Given the description of an element on the screen output the (x, y) to click on. 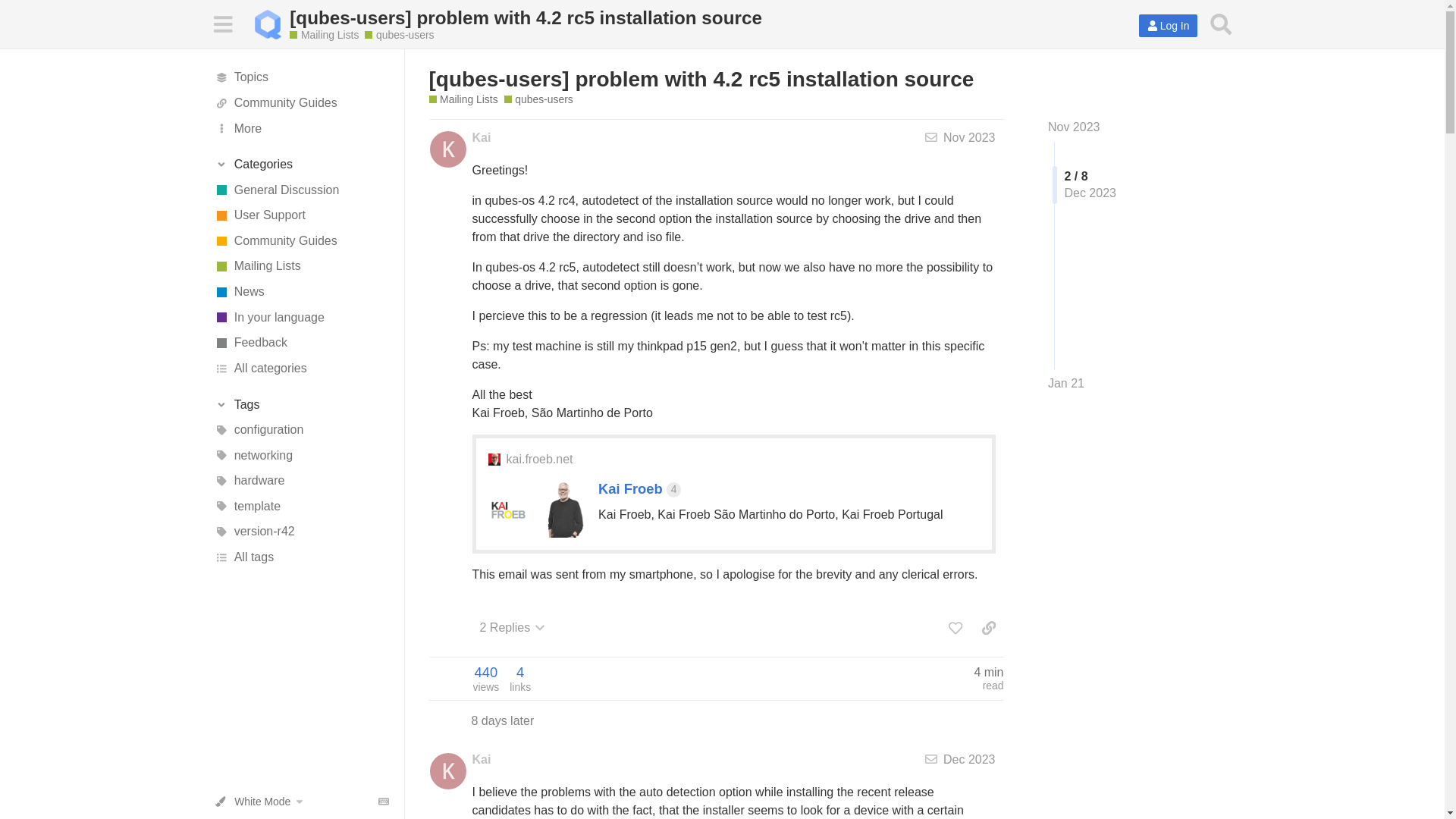
All categories (301, 368)
More (301, 128)
In your language (301, 317)
Log In (1168, 25)
Topics (301, 77)
hardware (301, 481)
Nov 2023 (1074, 126)
qubes-users (538, 99)
Community Guides (301, 103)
